Given the description of an element on the screen output the (x, y) to click on. 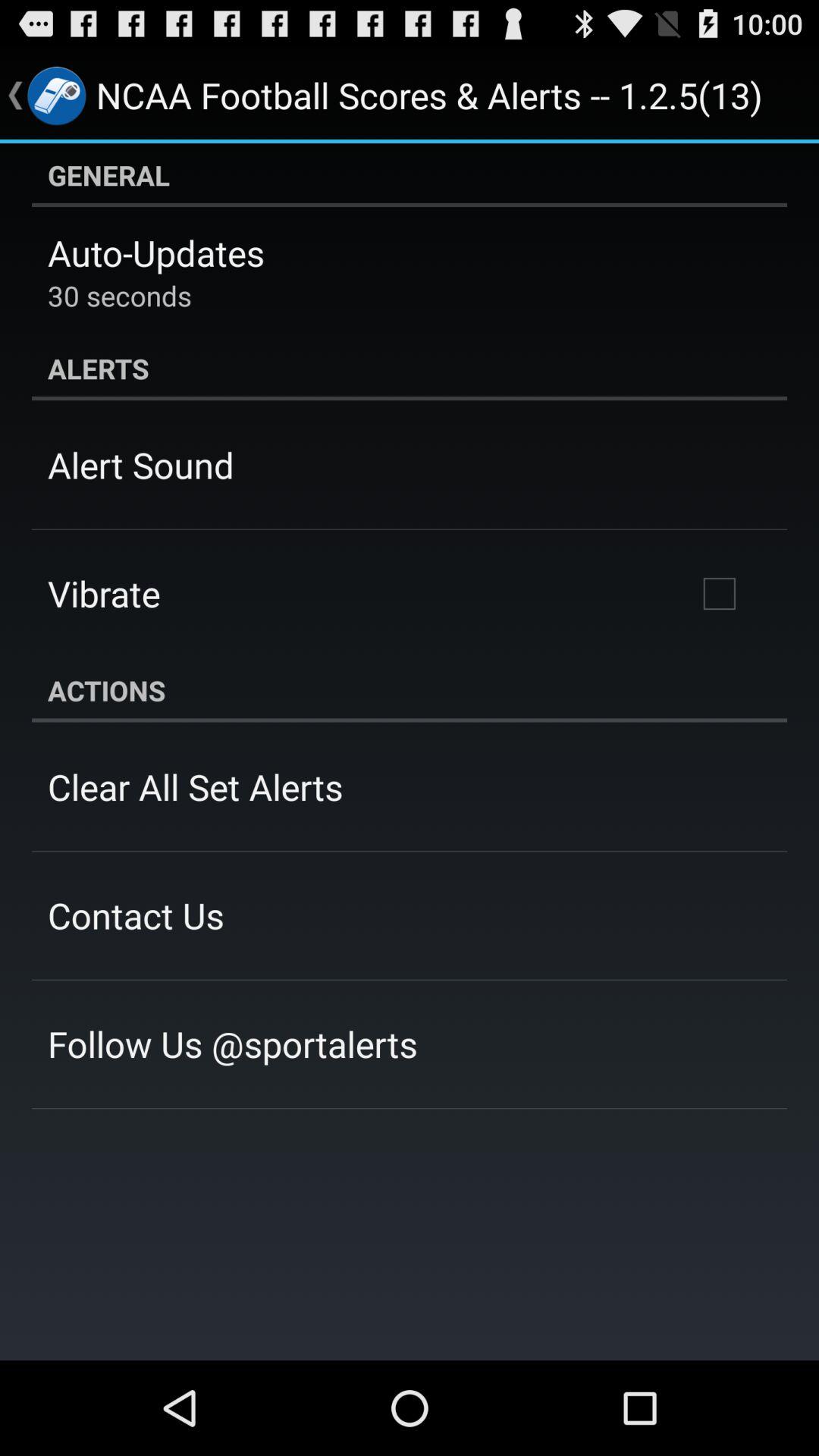
open item to the right of vibrate (719, 593)
